Given the description of an element on the screen output the (x, y) to click on. 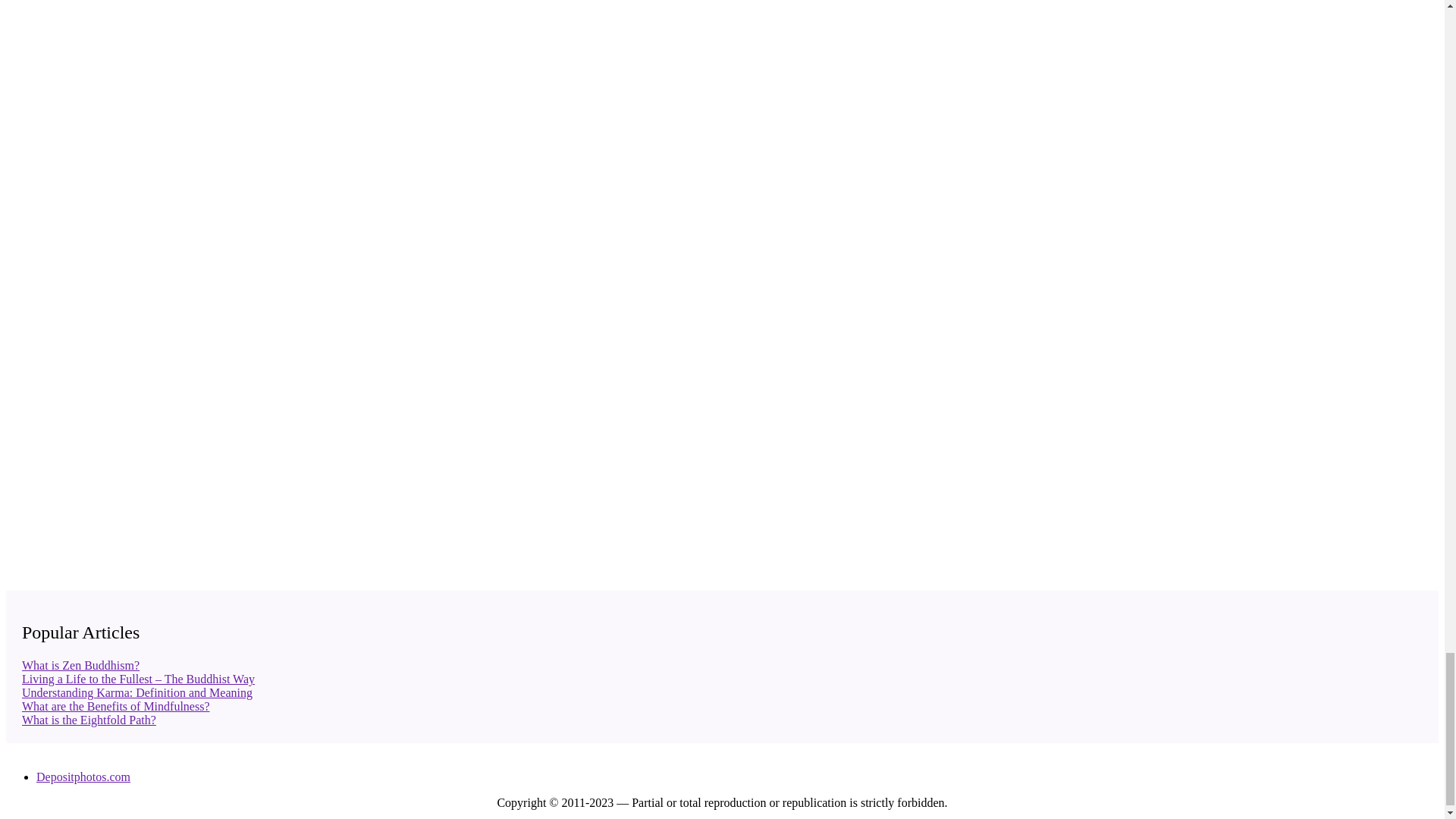
Understanding Karma: Definition and Meaning (136, 692)
What is Zen Buddhism? (80, 665)
What are the Benefits of Mindfulness? (115, 706)
What is the Eightfold Path? (88, 719)
